Given the description of an element on the screen output the (x, y) to click on. 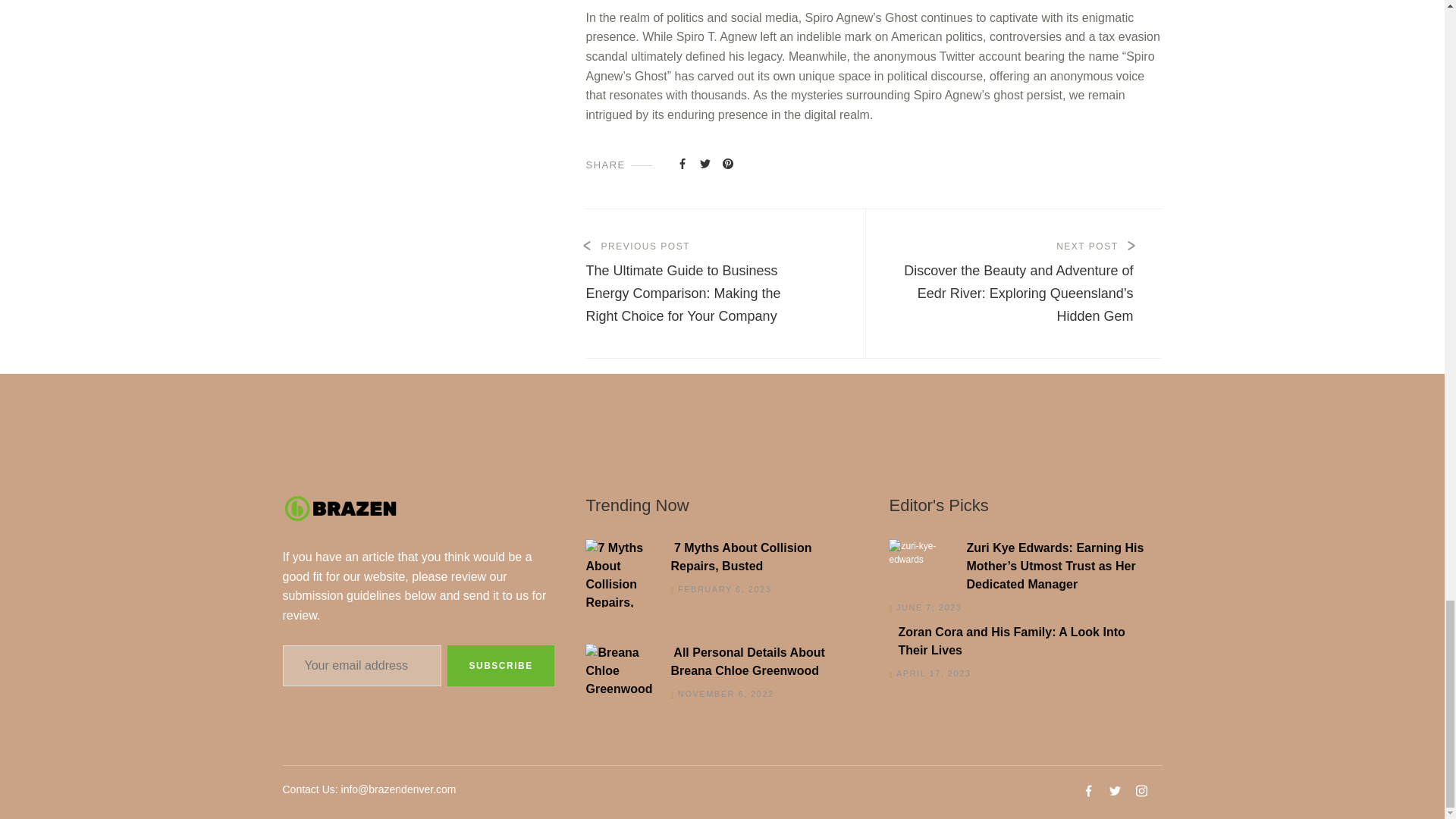
 7 Myths About Collision Repairs, Busted  (717, 556)
SUBSCRIBE (499, 665)
